Given the description of an element on the screen output the (x, y) to click on. 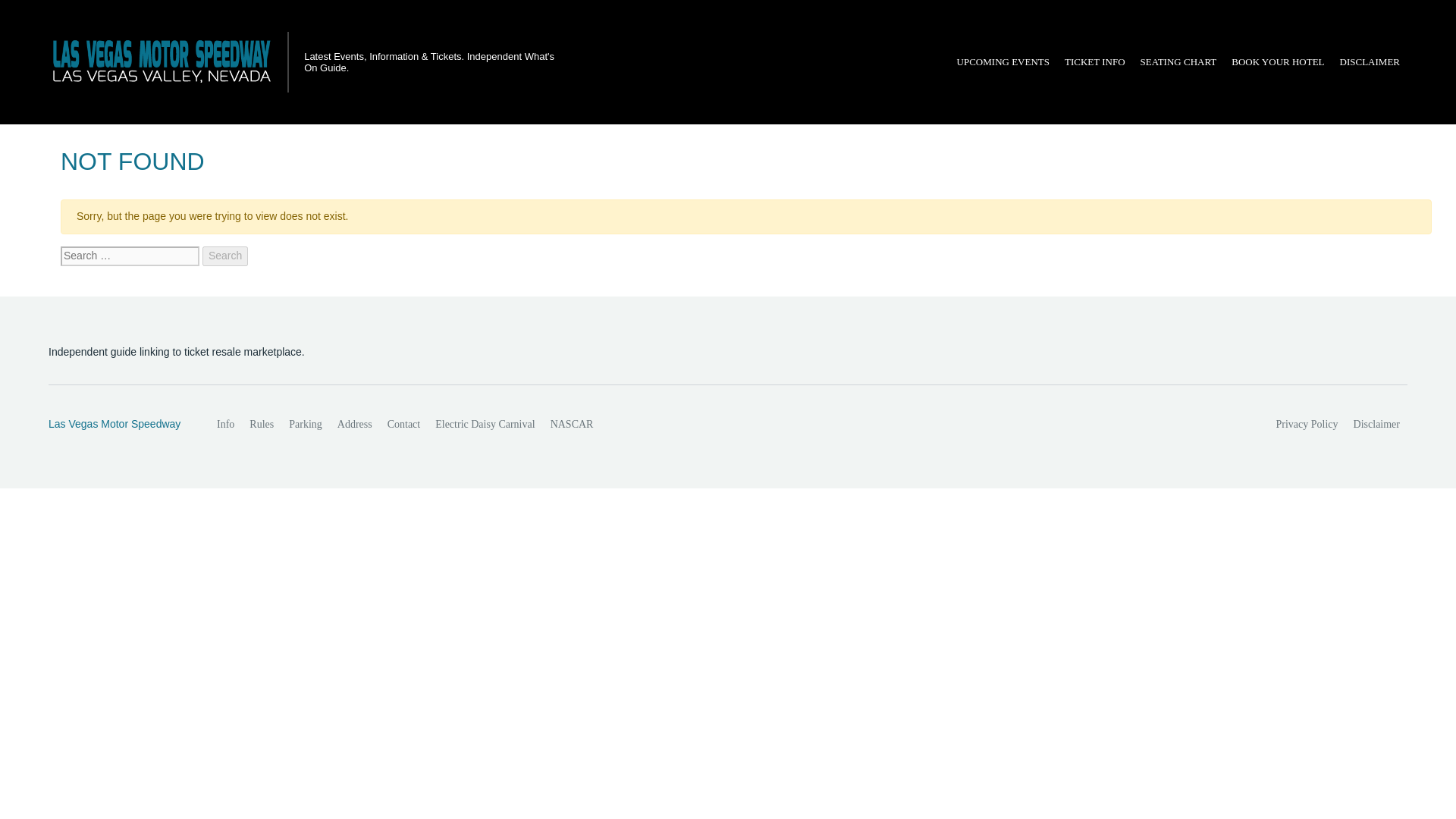
Rules (261, 424)
Search (224, 256)
Address (355, 424)
Contact (404, 424)
Electric Daisy Carnival (484, 424)
NASCAR (572, 424)
Info (225, 424)
BOOK YOUR HOTEL (1278, 61)
Privacy Policy (1306, 424)
Las Vegas Motor Speedway (116, 424)
Search (224, 256)
Parking (305, 424)
DISCLAIMER (1369, 61)
Search (224, 256)
SEATING CHART (1178, 61)
